Given the description of an element on the screen output the (x, y) to click on. 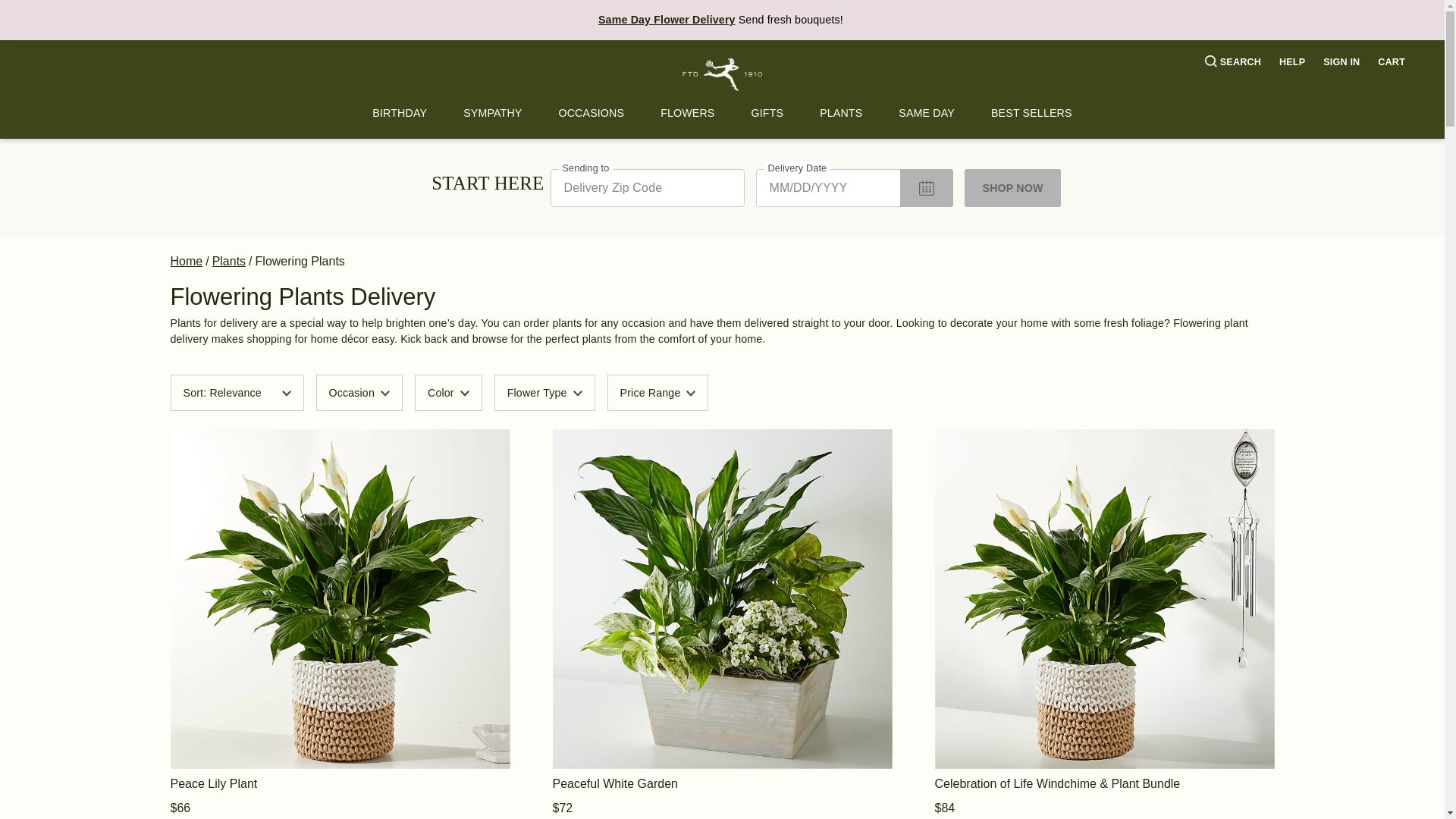
HELP (1291, 62)
SYMPATHY (492, 112)
Same Day Flower Delivery (666, 19)
SEARCH (1232, 62)
SIGN IN (1341, 62)
CART (1391, 62)
BIRTHDAY (399, 112)
